Given the description of an element on the screen output the (x, y) to click on. 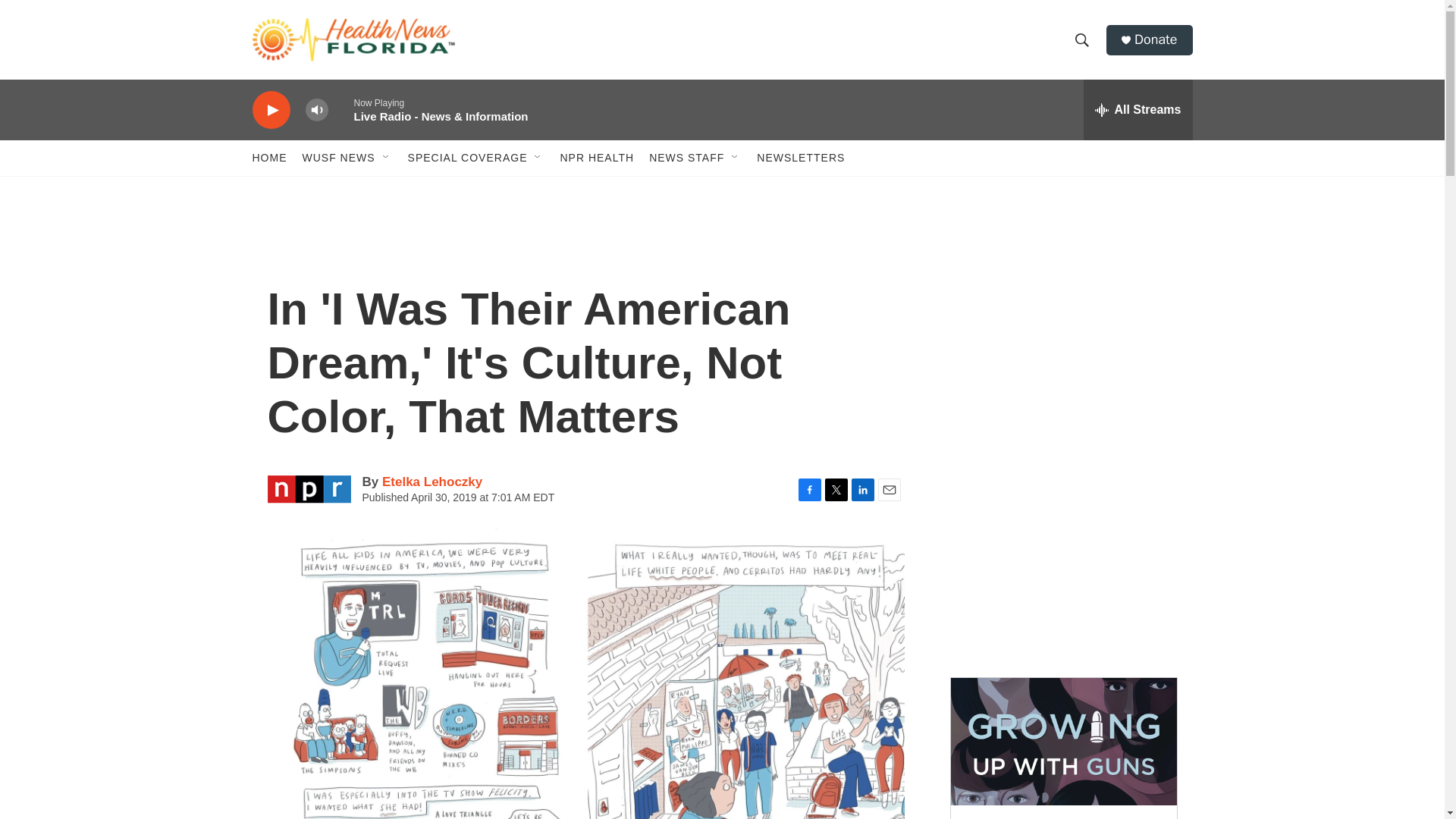
3rd party ad content (1062, 552)
3rd party ad content (1062, 331)
